Given the description of an element on the screen output the (x, y) to click on. 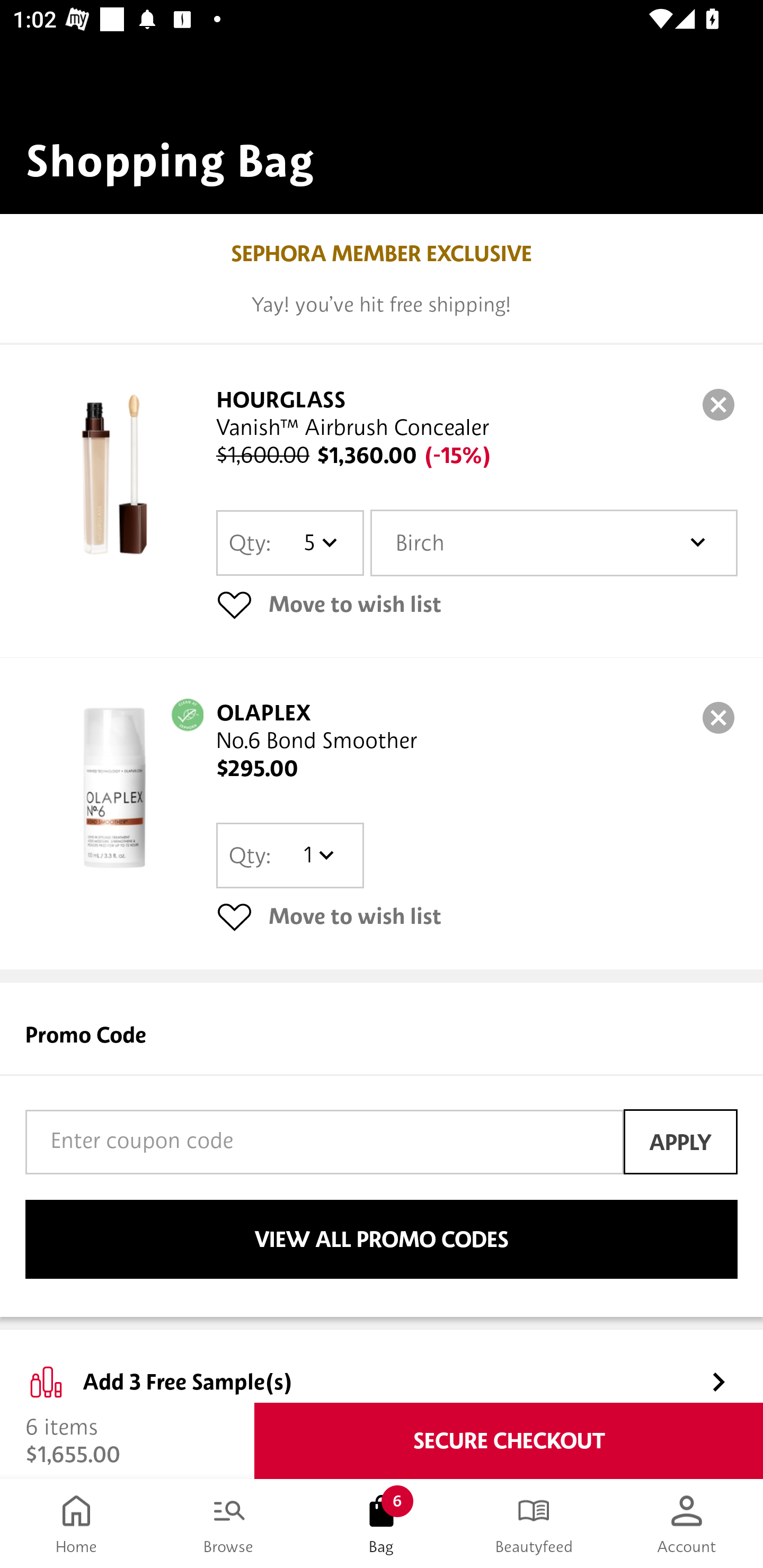
Birch (553, 542)
5 (317, 542)
Move to wish list (476, 604)
1 (317, 855)
Move to wish list (476, 916)
APPLY (680, 1141)
Enter coupon code (324, 1142)
VIEW ALL PROMO CODES (381, 1239)
Add 3 Free Sample(s) (381, 1366)
SECURE CHECKOUT (508, 1440)
Home (76, 1523)
Browse (228, 1523)
Beautyfeed (533, 1523)
Account (686, 1523)
